Given the description of an element on the screen output the (x, y) to click on. 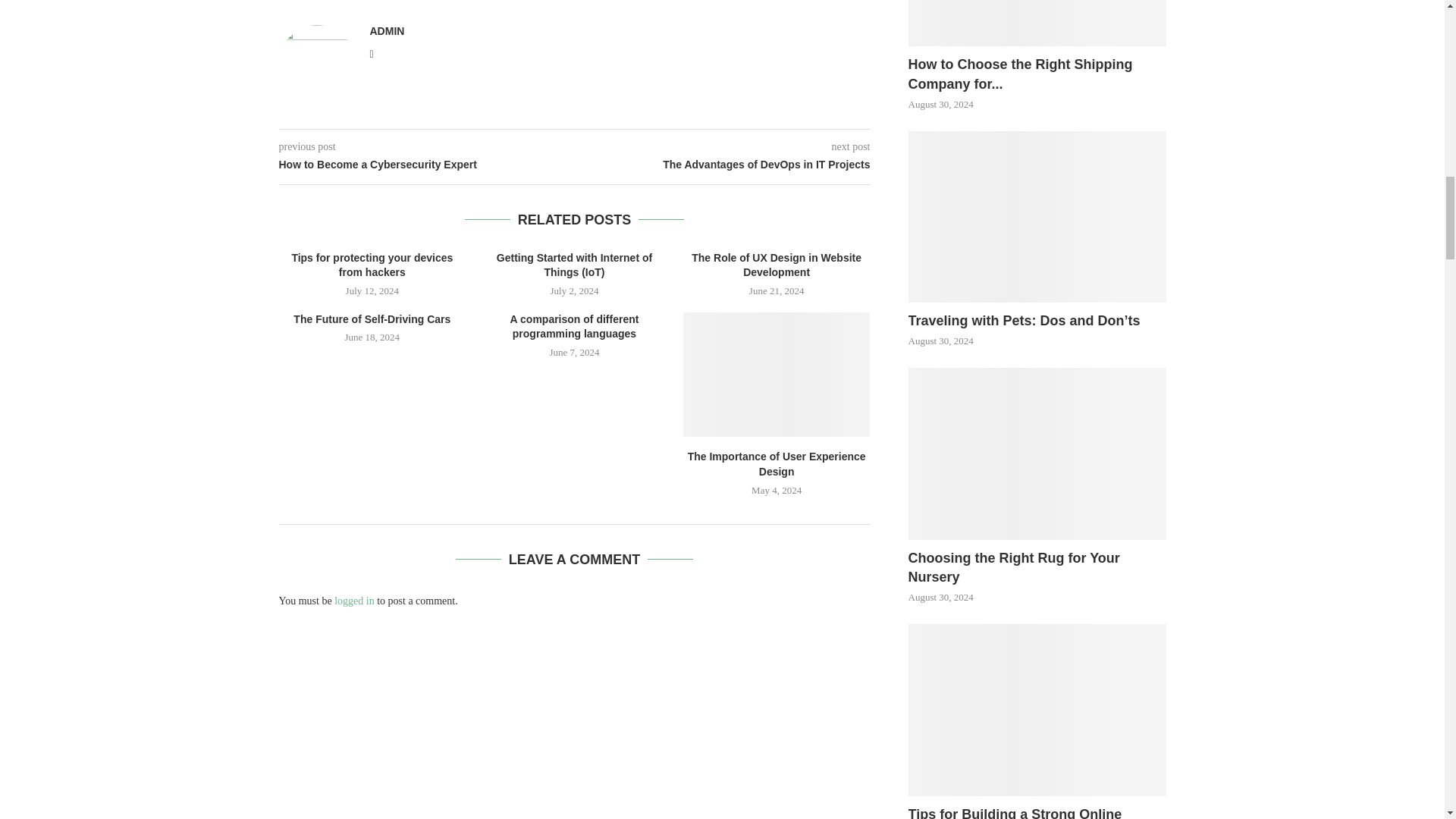
ADMIN (386, 30)
The Importance of User Experience Design (776, 374)
How to Choose the Right Shipping Company for Your Business (1037, 74)
How to Become a Cybersecurity Expert (427, 165)
How to Choose the Right Shipping Company for Your Business (1037, 23)
Author admin (386, 30)
